Given the description of an element on the screen output the (x, y) to click on. 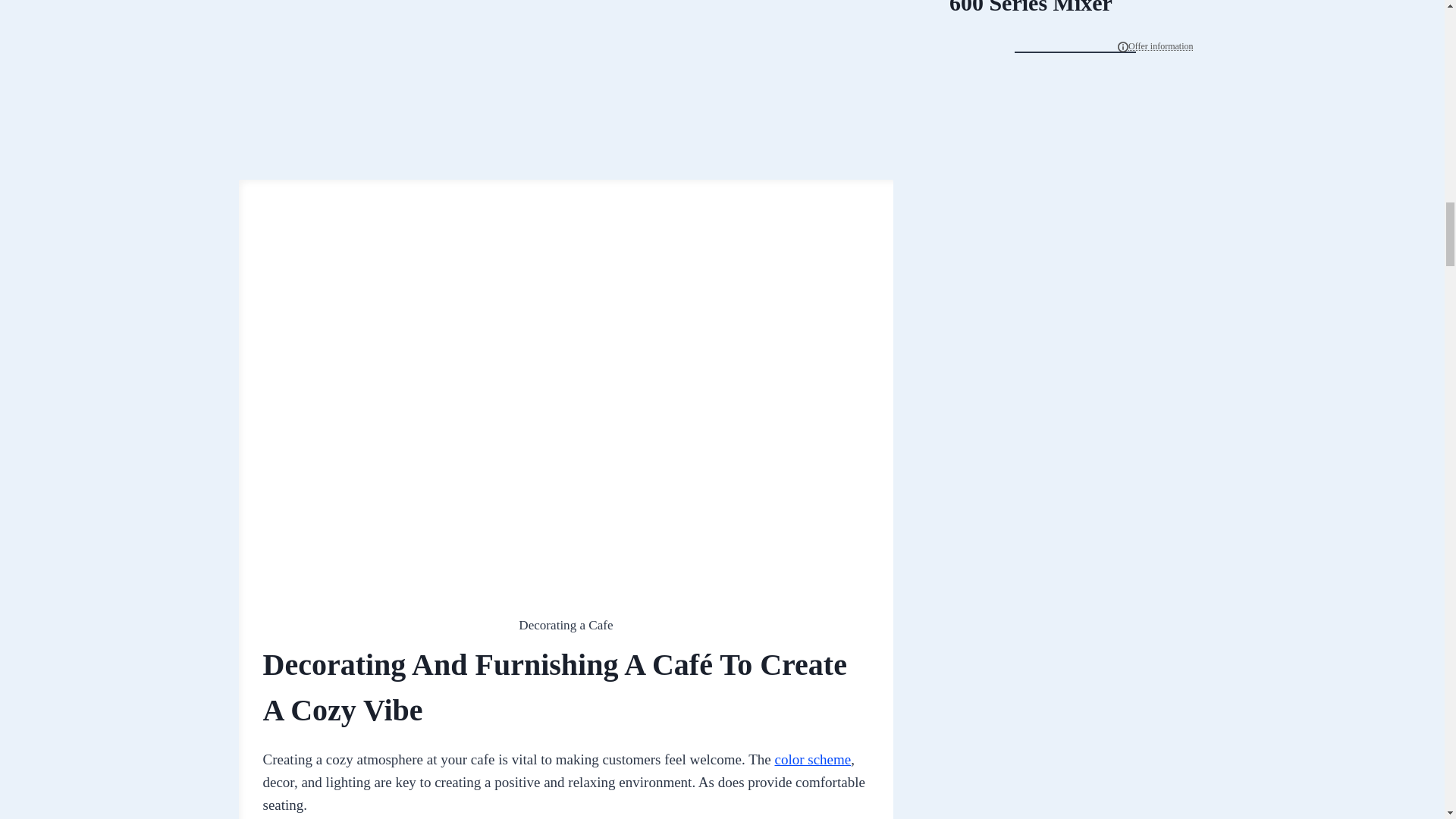
color scheme (812, 759)
color scheme (812, 759)
